Given the description of an element on the screen output the (x, y) to click on. 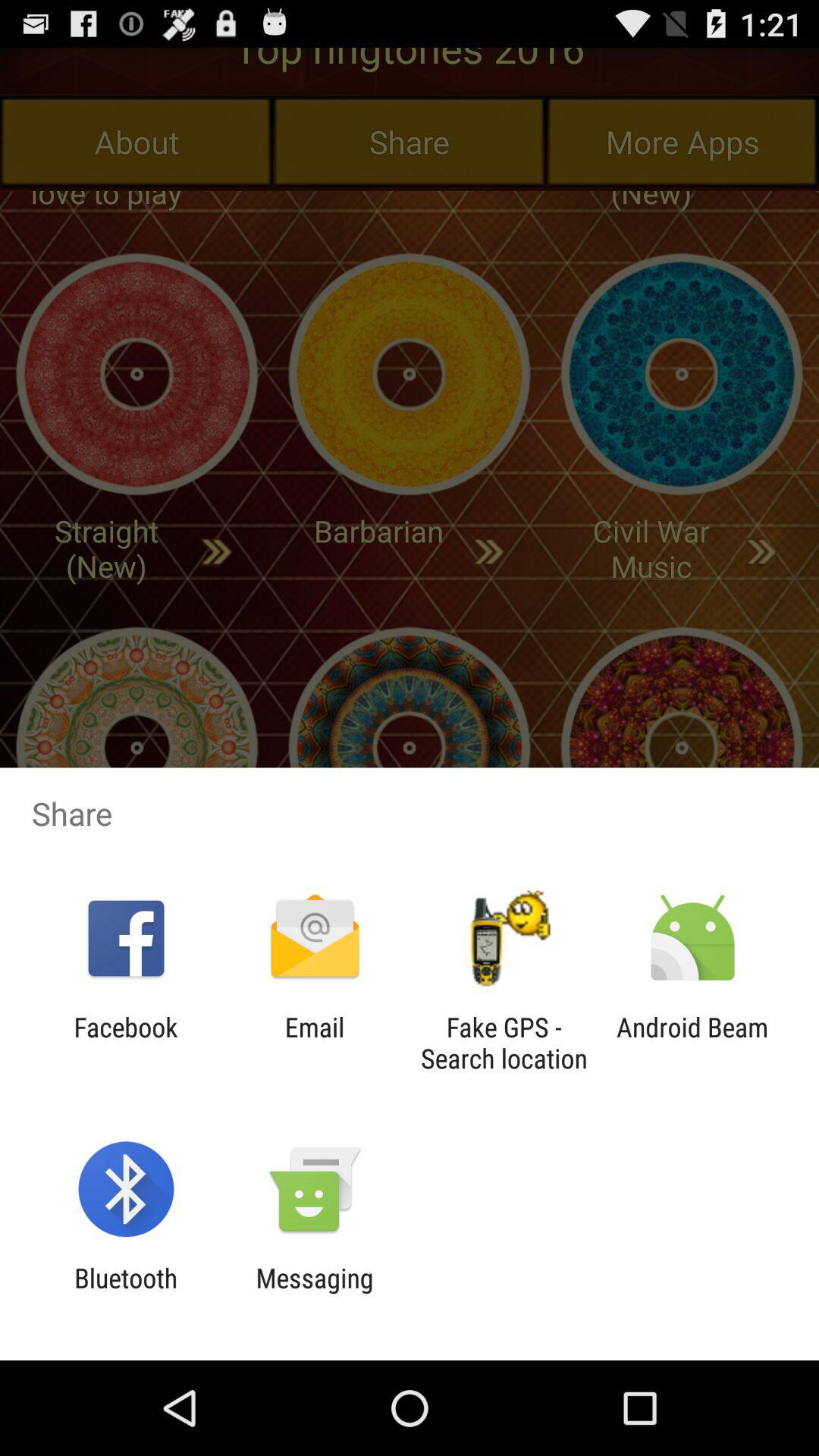
turn on item to the left of android beam icon (503, 1042)
